Given the description of an element on the screen output the (x, y) to click on. 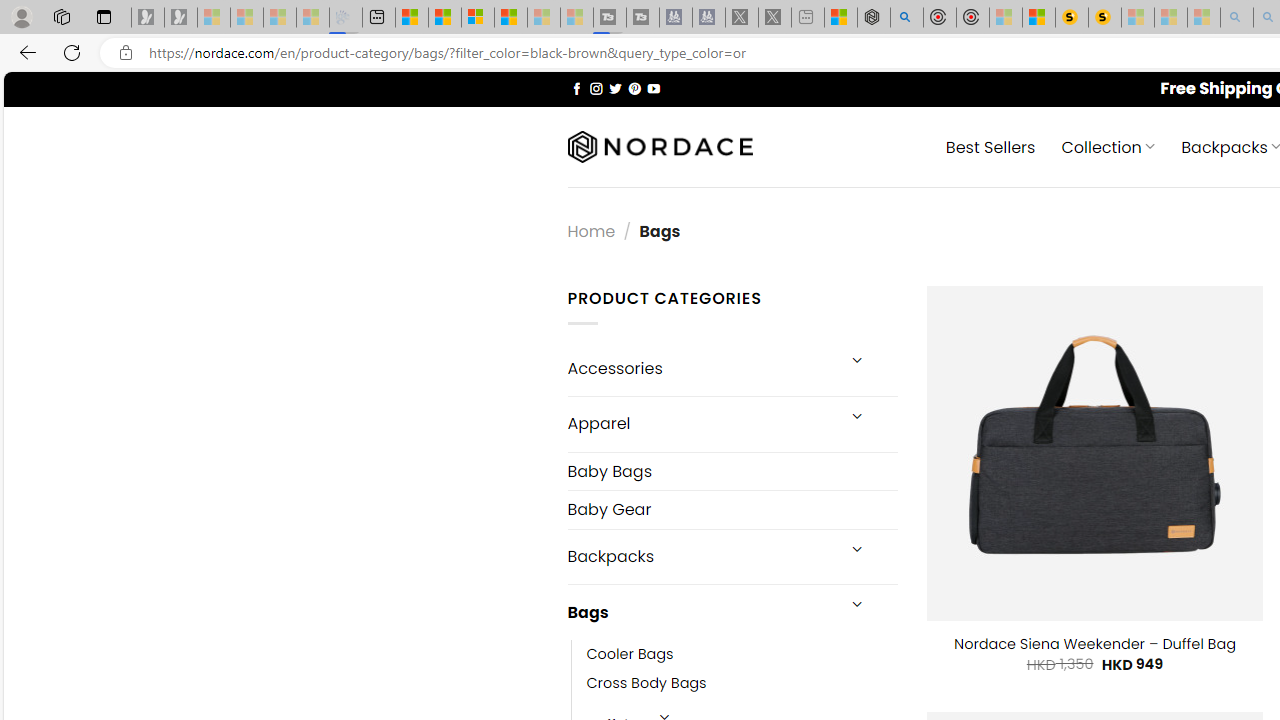
Cross Body Bags (646, 683)
Bags (700, 613)
Follow on YouTube (653, 88)
Follow on Facebook (576, 88)
Follow on Instagram (596, 88)
 Best Sellers (989, 146)
Cooler Bags (742, 655)
